Given the description of an element on the screen output the (x, y) to click on. 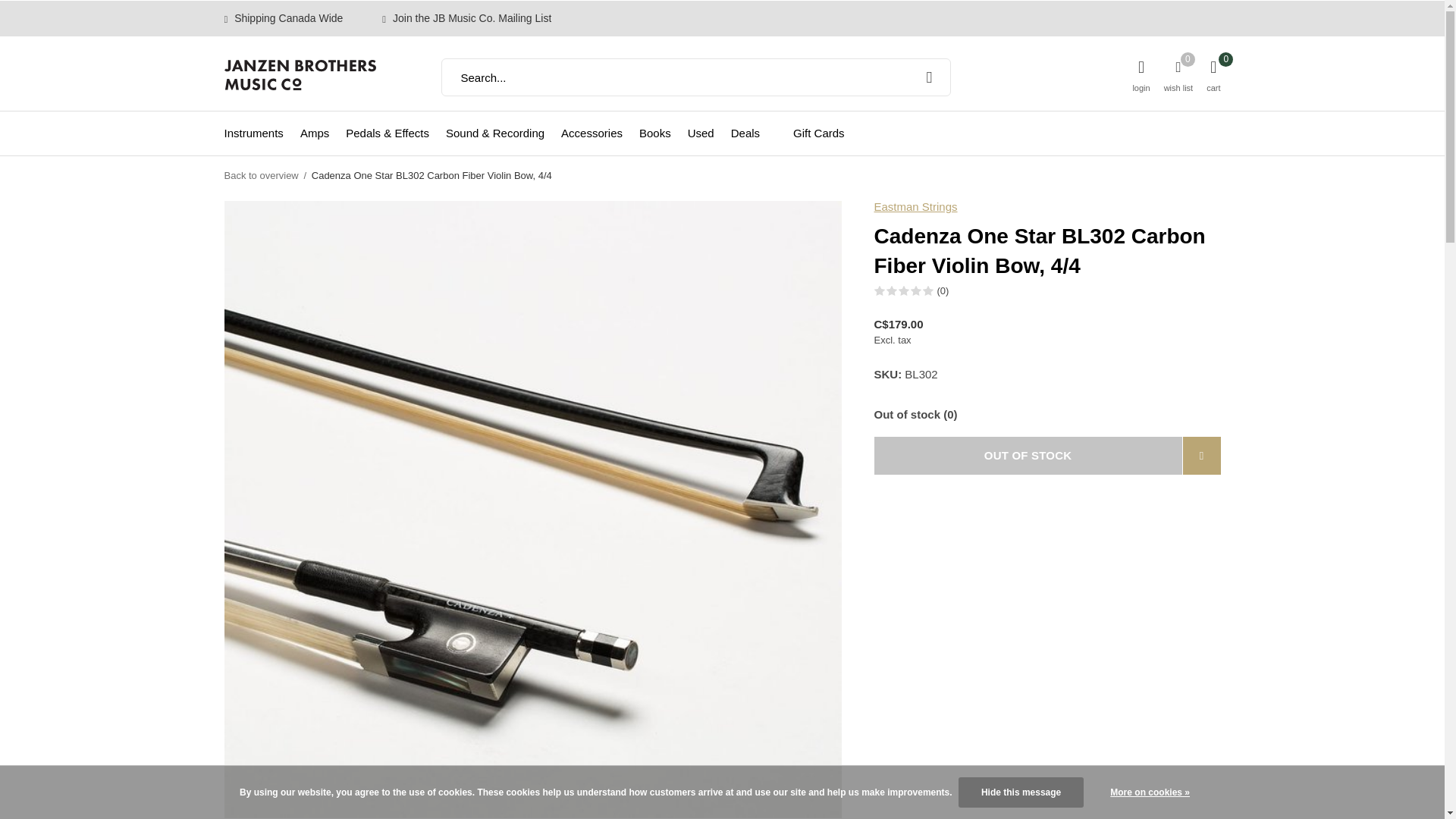
More on cookies (1149, 792)
Hide this message (1020, 792)
Instruments (253, 132)
